Given the description of an element on the screen output the (x, y) to click on. 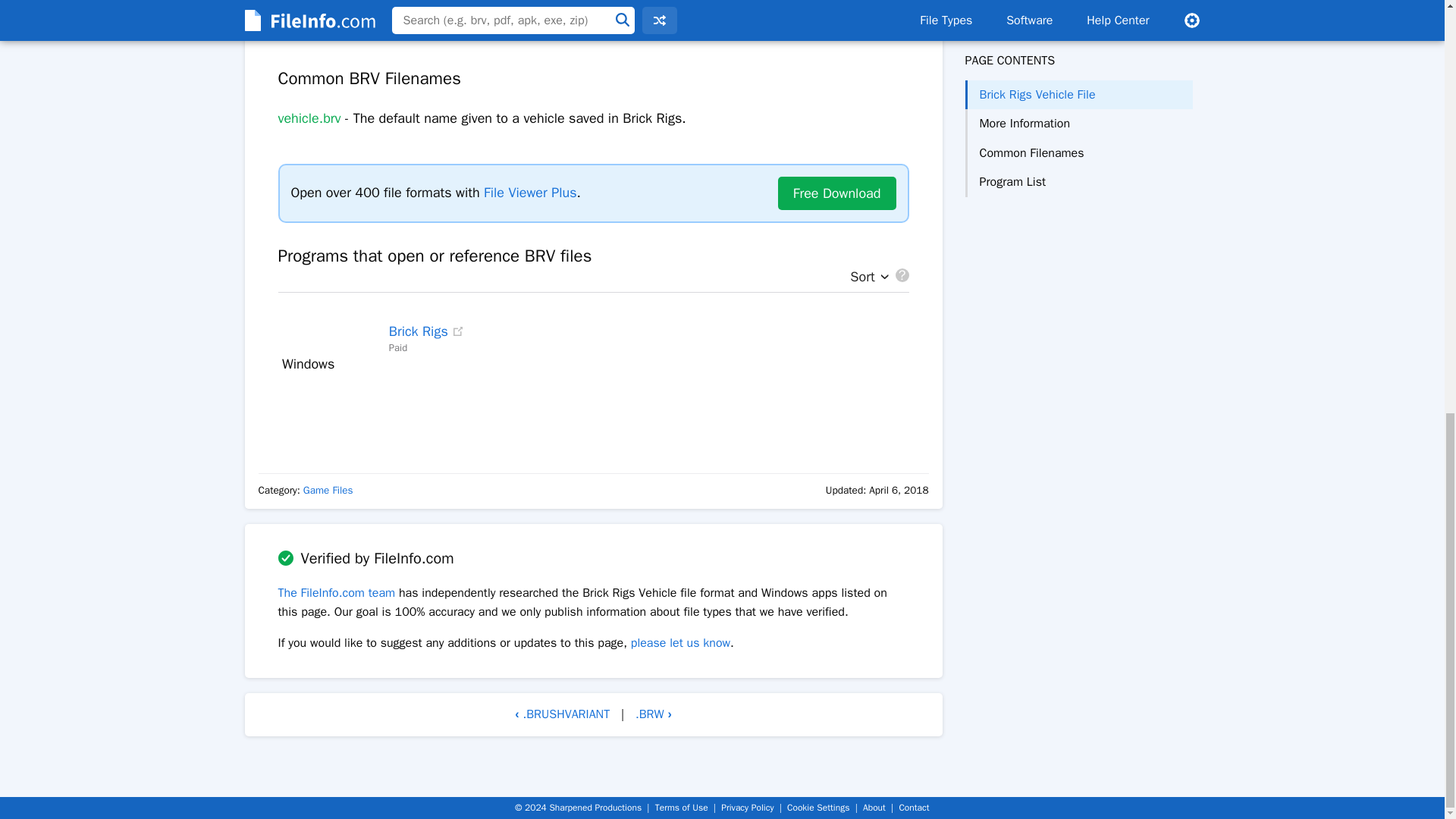
Sort (865, 277)
Terms of Use (681, 807)
Privacy Policy (746, 807)
The FileInfo.com team (336, 592)
please let us know (680, 642)
Game Files (327, 490)
Brick Rigs (418, 330)
